Given the description of an element on the screen output the (x, y) to click on. 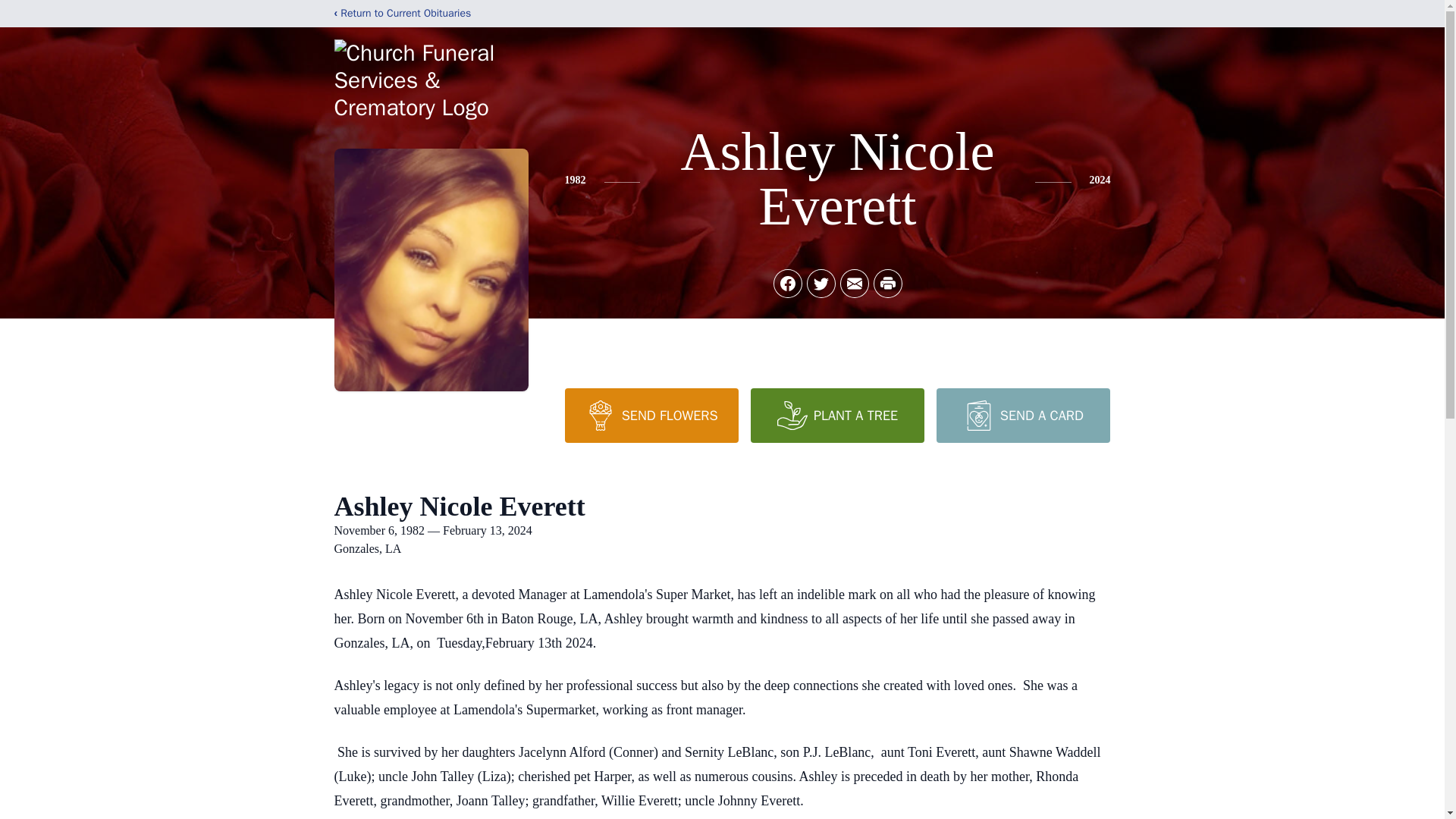
SEND FLOWERS (651, 415)
PLANT A TREE (837, 415)
SEND A CARD (1022, 415)
